Given the description of an element on the screen output the (x, y) to click on. 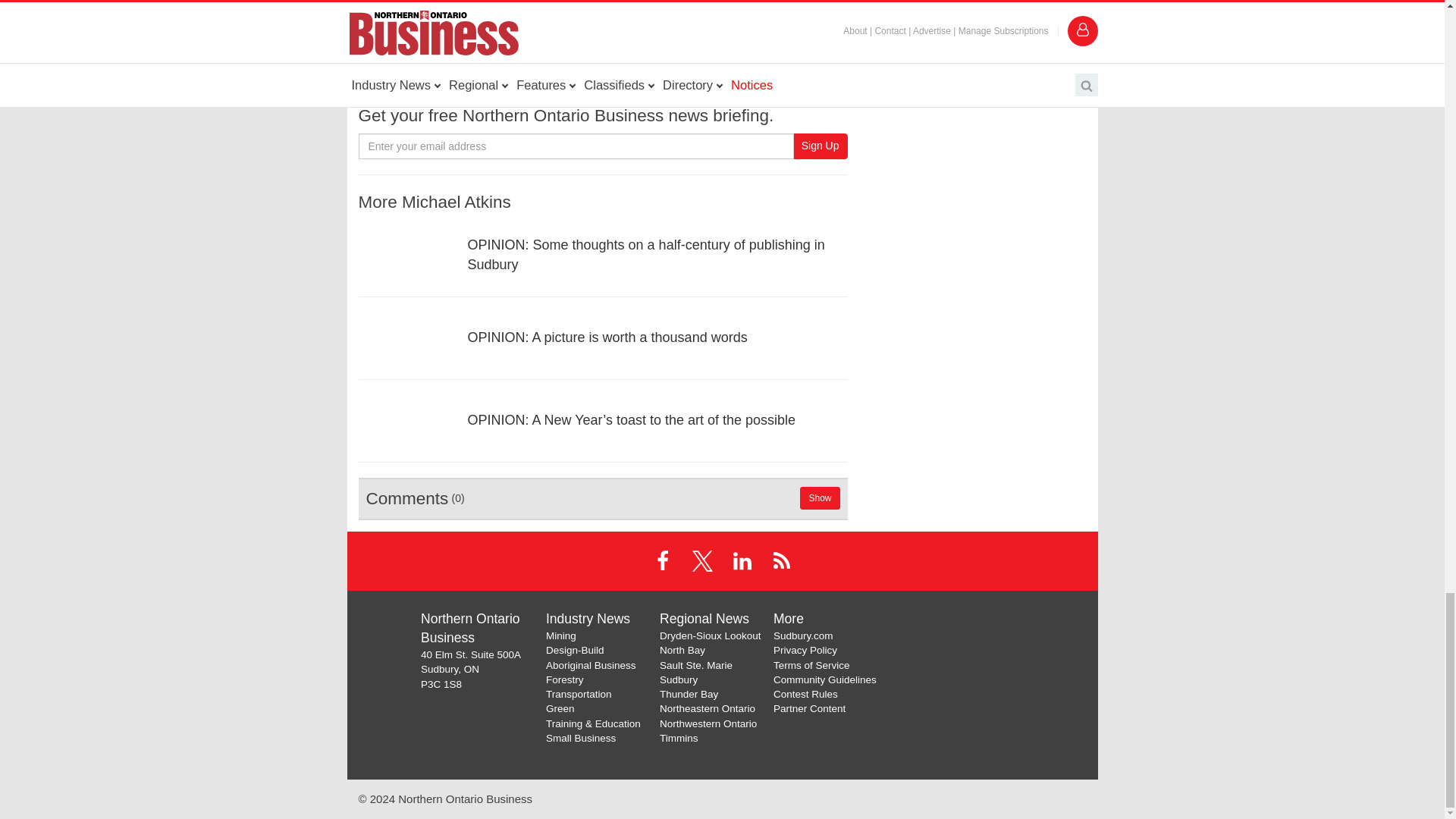
Facebook (663, 559)
LinkedIn (741, 559)
RSS (780, 559)
X (702, 559)
